Given the description of an element on the screen output the (x, y) to click on. 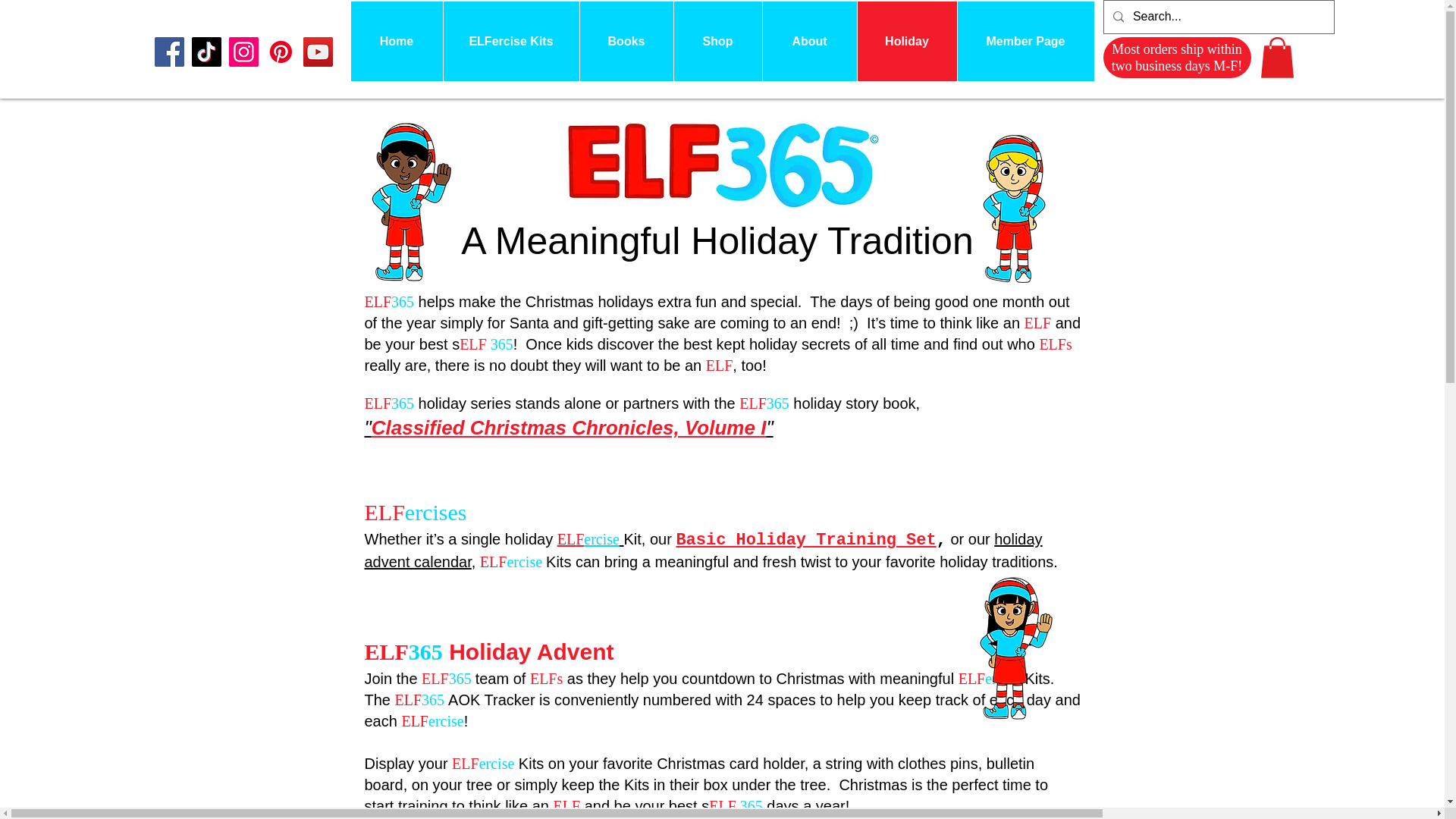
About (808, 41)
Member Page (1025, 41)
Holiday (906, 41)
Basic Holiday Training Set (805, 538)
Books (625, 41)
ELFercise (590, 538)
Home (396, 41)
"Classified Christmas Chronicles, Volume I" (568, 427)
holiday advent calendar (703, 550)
Shop (716, 41)
ELFercise Kits (510, 41)
